Given the description of an element on the screen output the (x, y) to click on. 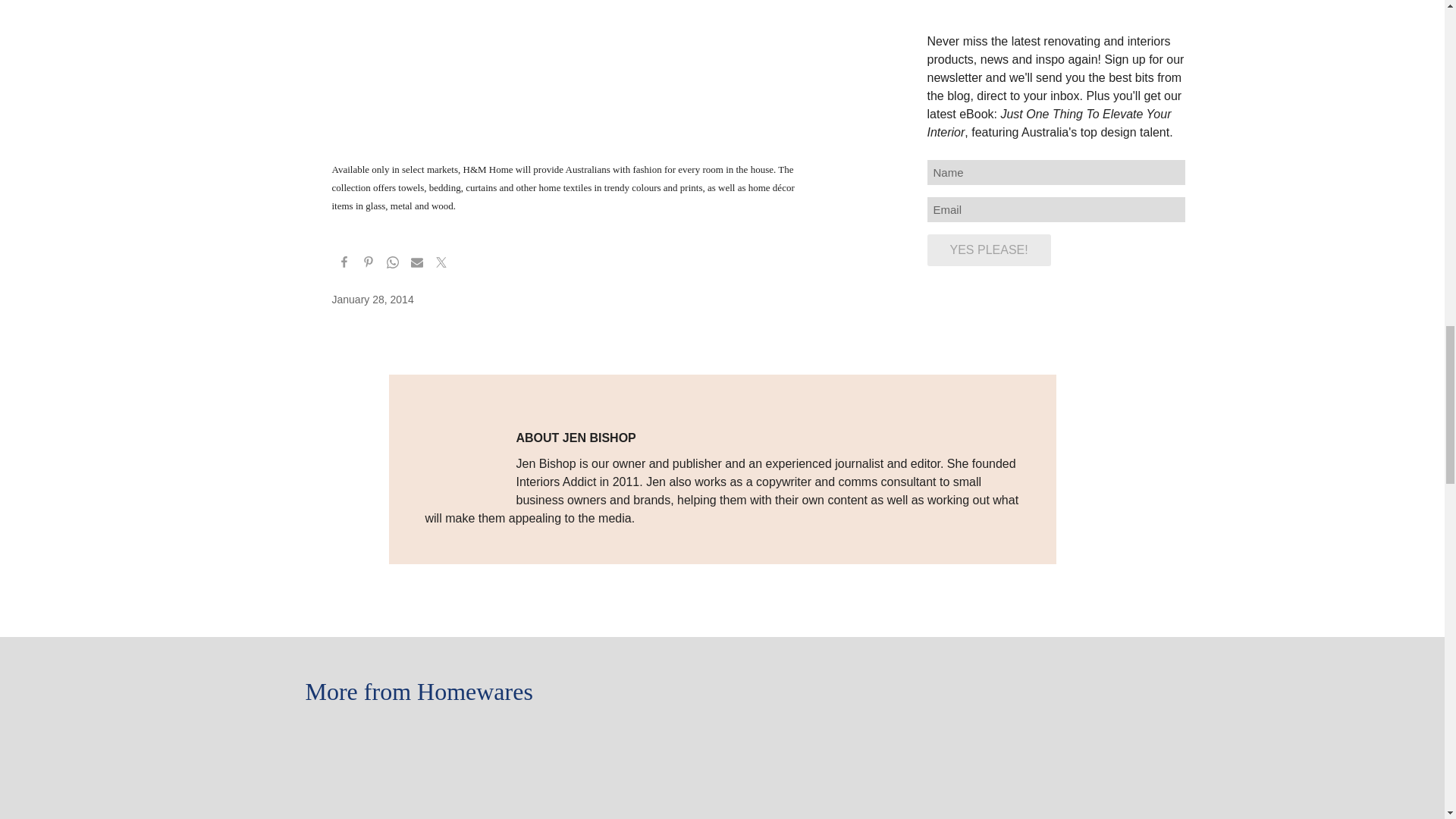
Share on Twitter (440, 264)
YES PLEASE! (987, 250)
New 3D high-low rugs are perfect for year round luxury (721, 736)
Share on Facebook (343, 264)
Share on Pinterest (368, 264)
Share via Email (416, 264)
